Given the description of an element on the screen output the (x, y) to click on. 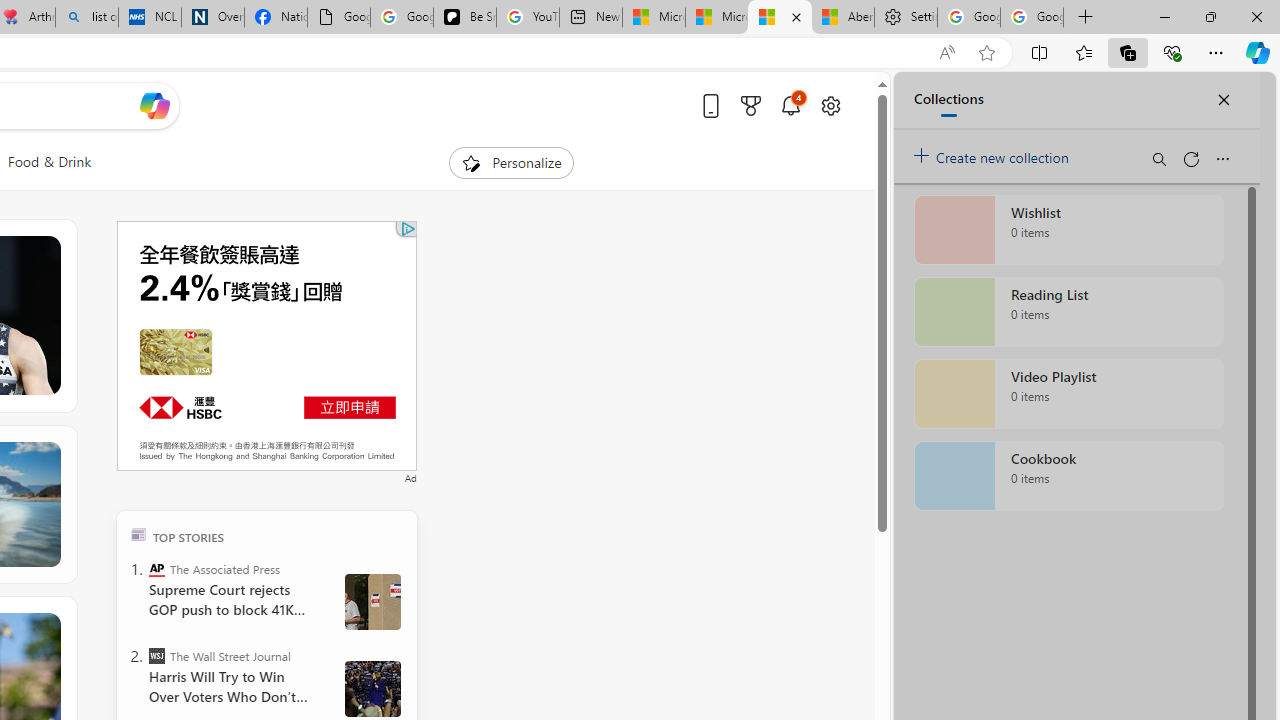
The Associated Press (156, 568)
Google Analytics Opt-out Browser Add-on Download Page (338, 17)
Class: qc-adchoices-icon (407, 228)
TOP (138, 534)
